Given the description of an element on the screen output the (x, y) to click on. 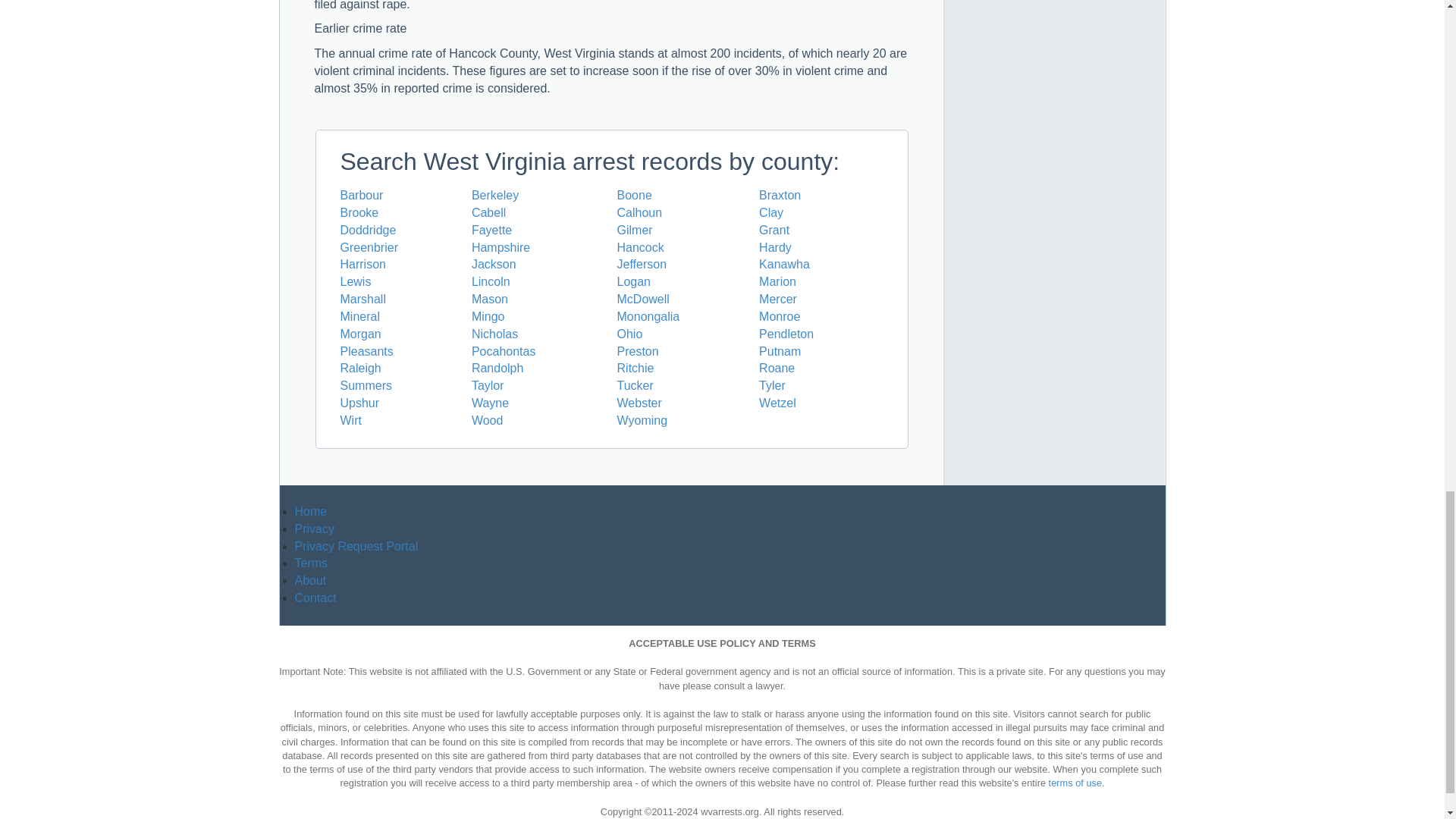
Barbour (360, 195)
Boone (634, 195)
Home Page (310, 511)
Jackson (493, 264)
Kanawha (783, 264)
Privacy (313, 528)
Hampshire (500, 246)
Marion (777, 281)
Grant (773, 229)
Brooke (358, 212)
Clay (770, 212)
Berkeley (494, 195)
Calhoun (639, 212)
Hancock (640, 246)
About Us (310, 580)
